Given the description of an element on the screen output the (x, y) to click on. 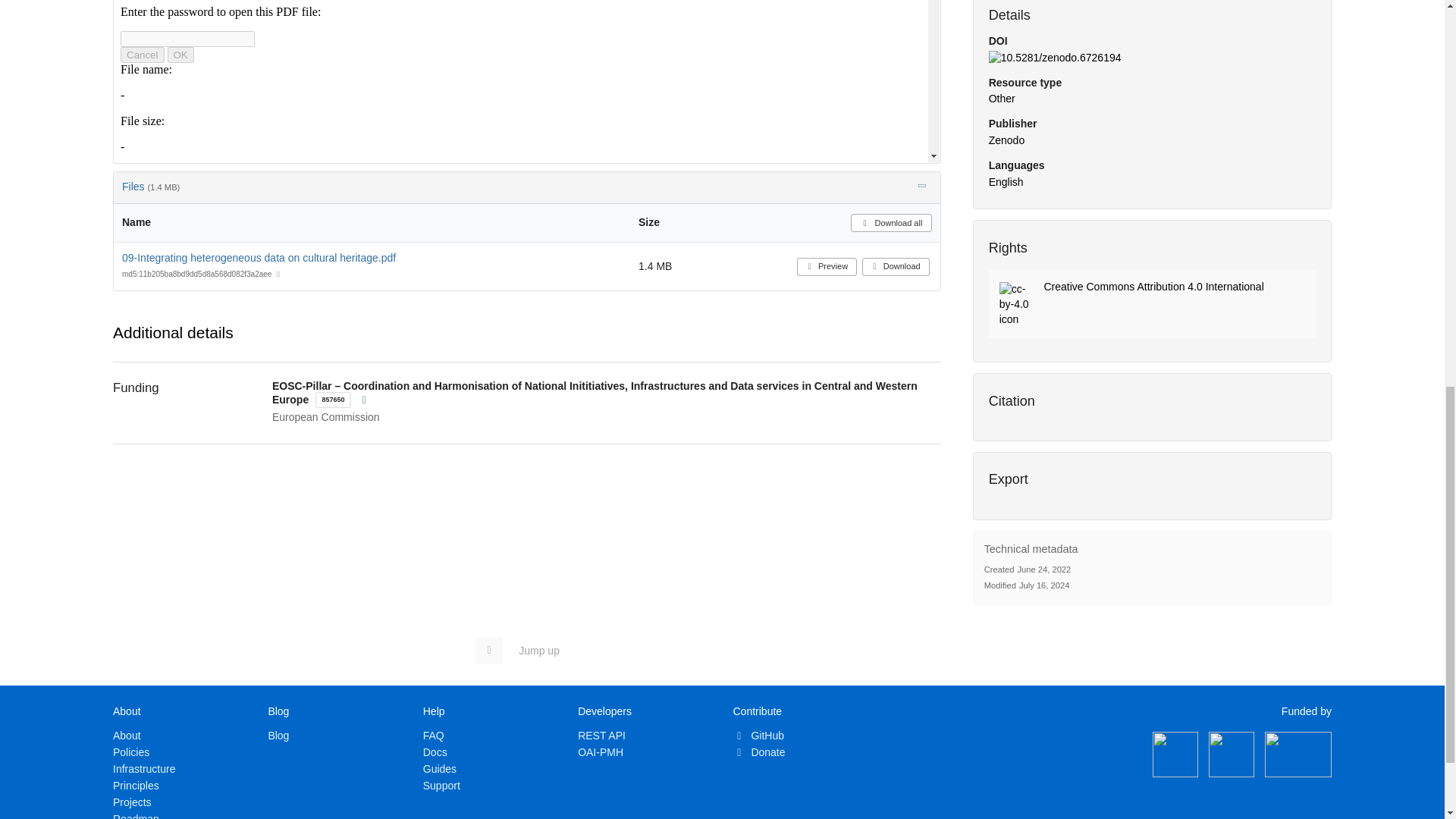
09-Integrating heterogeneous data on cultural heritage.pdf (259, 257)
Projects (132, 802)
Roadmap (135, 816)
Policies (131, 752)
Download all (890, 222)
About (127, 735)
Blog (277, 735)
Download (895, 266)
Principles (135, 785)
Preview (527, 81)
